Given the description of an element on the screen output the (x, y) to click on. 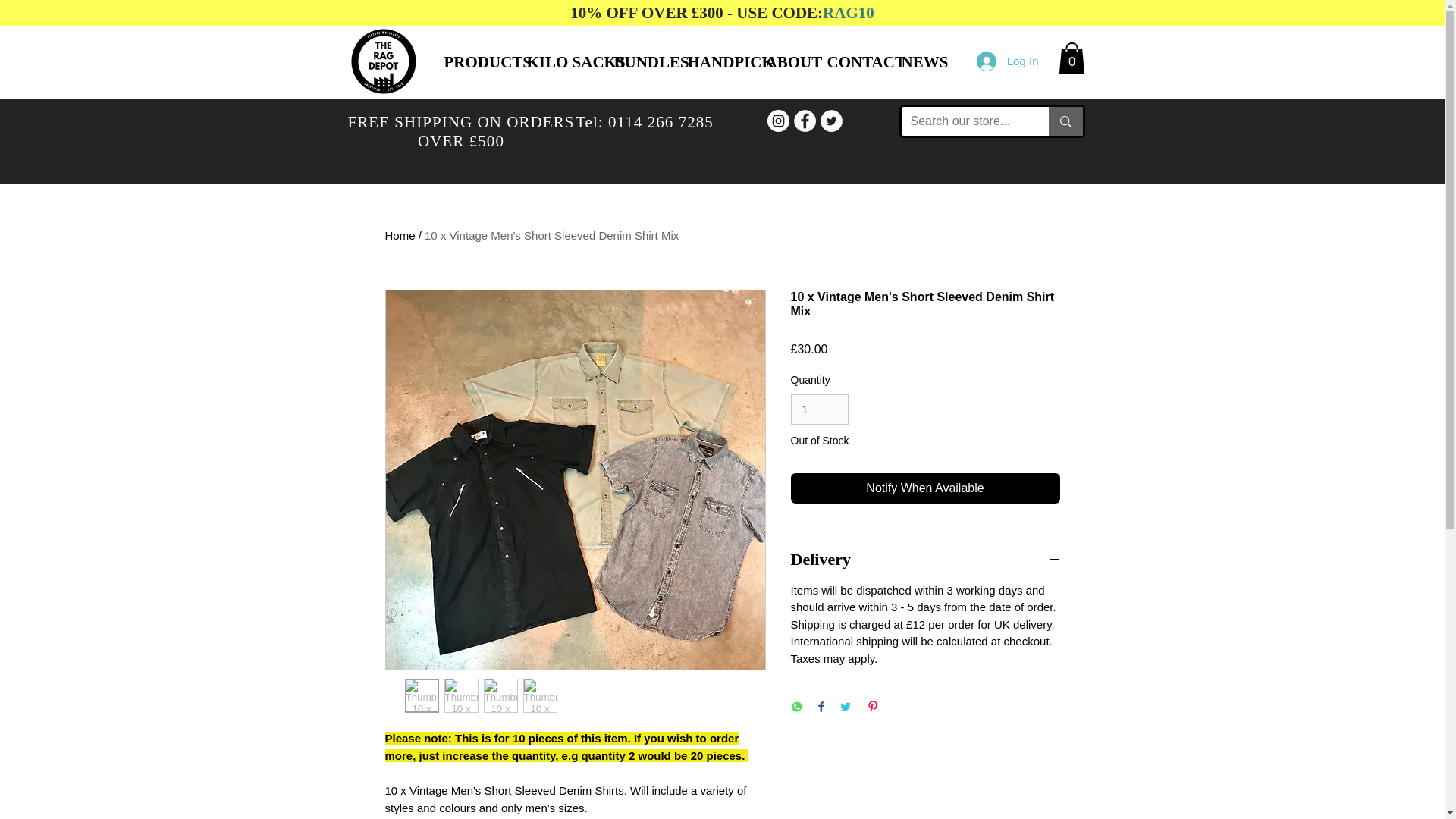
ABOUT (784, 62)
PRODUCTS (473, 62)
1 (818, 409)
Log In (1007, 61)
Notify When Available (924, 488)
NEWS (917, 62)
HANDPICK (715, 62)
Home (399, 235)
BUNDLES (638, 62)
CONTACT (852, 62)
